Given the description of an element on the screen output the (x, y) to click on. 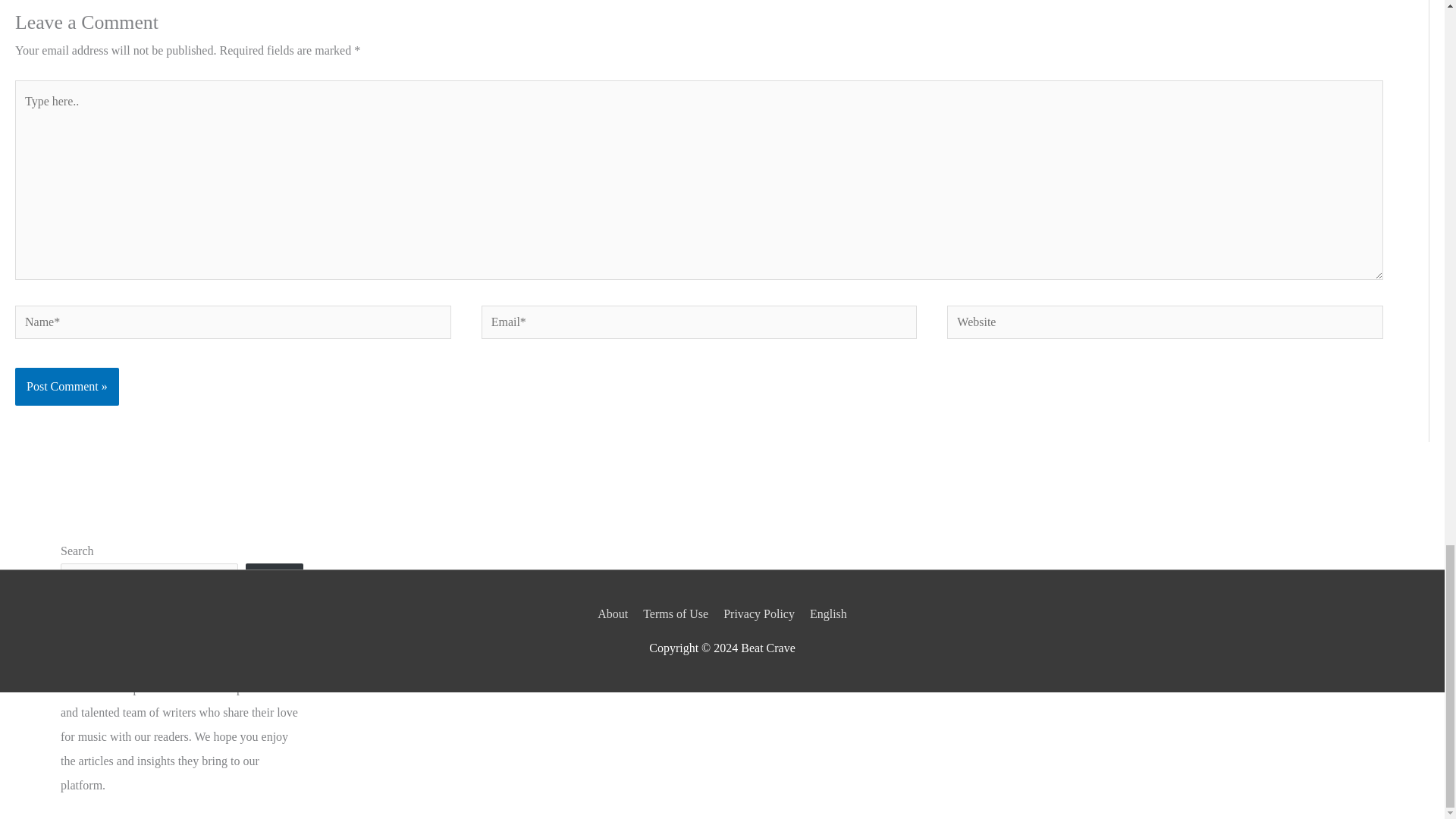
Privacy Policy (758, 613)
English (825, 613)
Terms of Use (675, 613)
About (614, 613)
Search (274, 583)
